Given the description of an element on the screen output the (x, y) to click on. 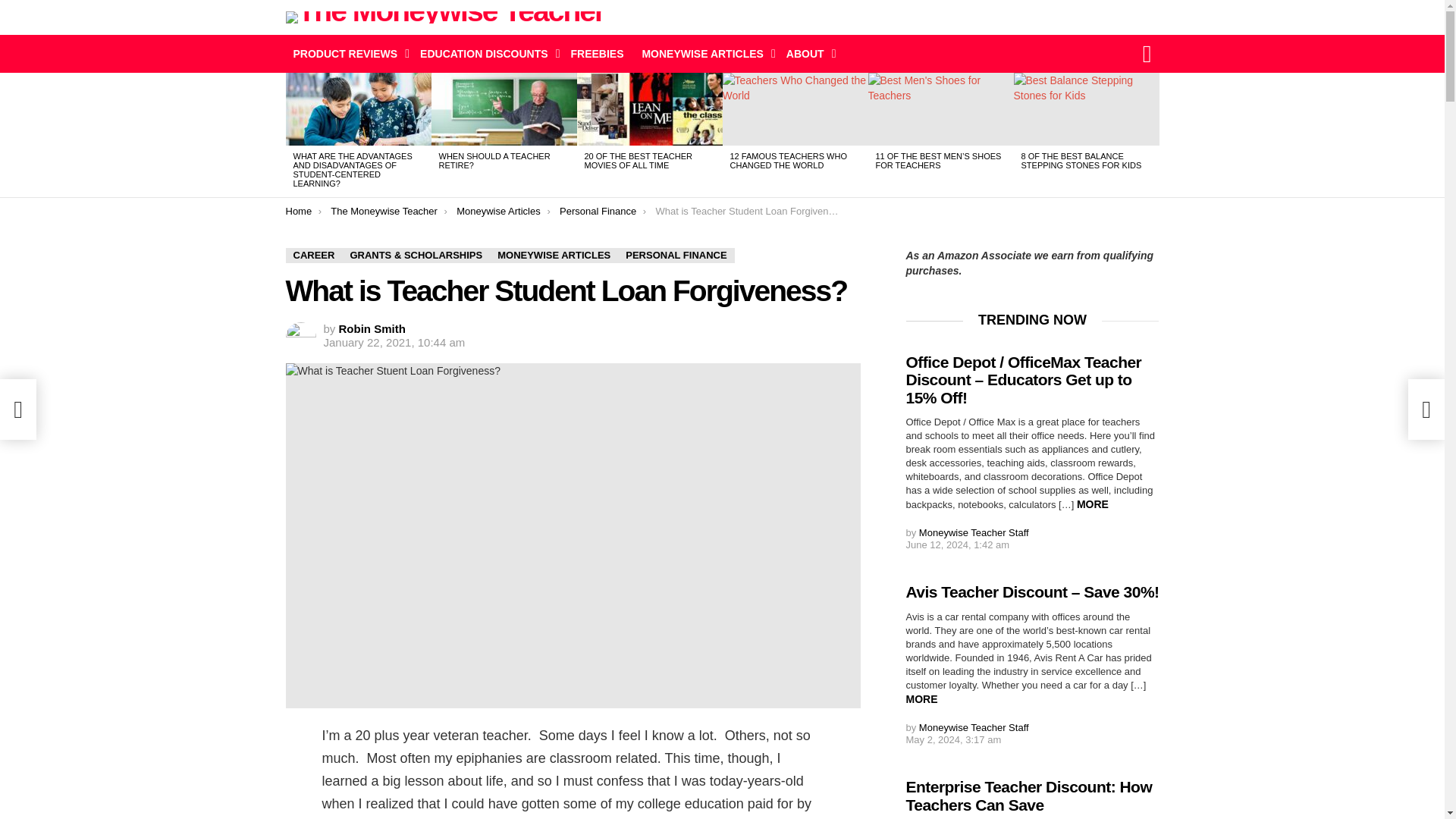
PRODUCT REVIEWS (347, 53)
MONEYWISE ARTICLES (704, 53)
When Should a Teacher Retire? (503, 108)
Posts by Robin Smith (372, 328)
FREEBIES (596, 53)
8 of the Best Balance Stepping Stones for Kids (1085, 108)
12 Famous Teachers Who Changed the World (794, 108)
ABOUT (806, 53)
20 of the Best Teacher Movies of All Time (649, 108)
EDUCATION DISCOUNTS (486, 53)
